Given the description of an element on the screen output the (x, y) to click on. 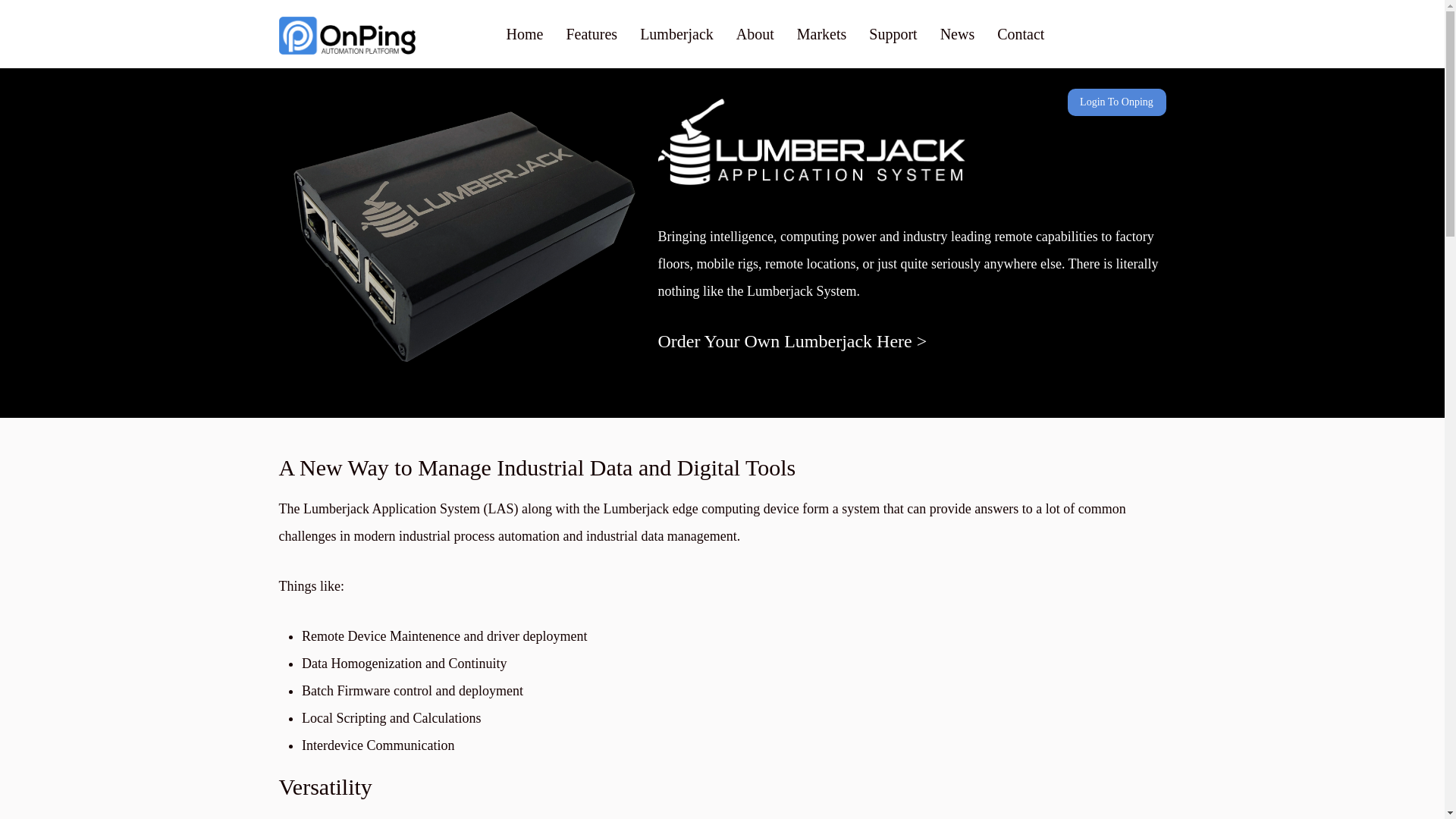
Support (893, 33)
Contact (1020, 33)
About (755, 33)
Login To Onping (1116, 102)
Features (591, 33)
Markets (821, 33)
Lumberjack (676, 33)
News (957, 33)
Home (524, 33)
